Given the description of an element on the screen output the (x, y) to click on. 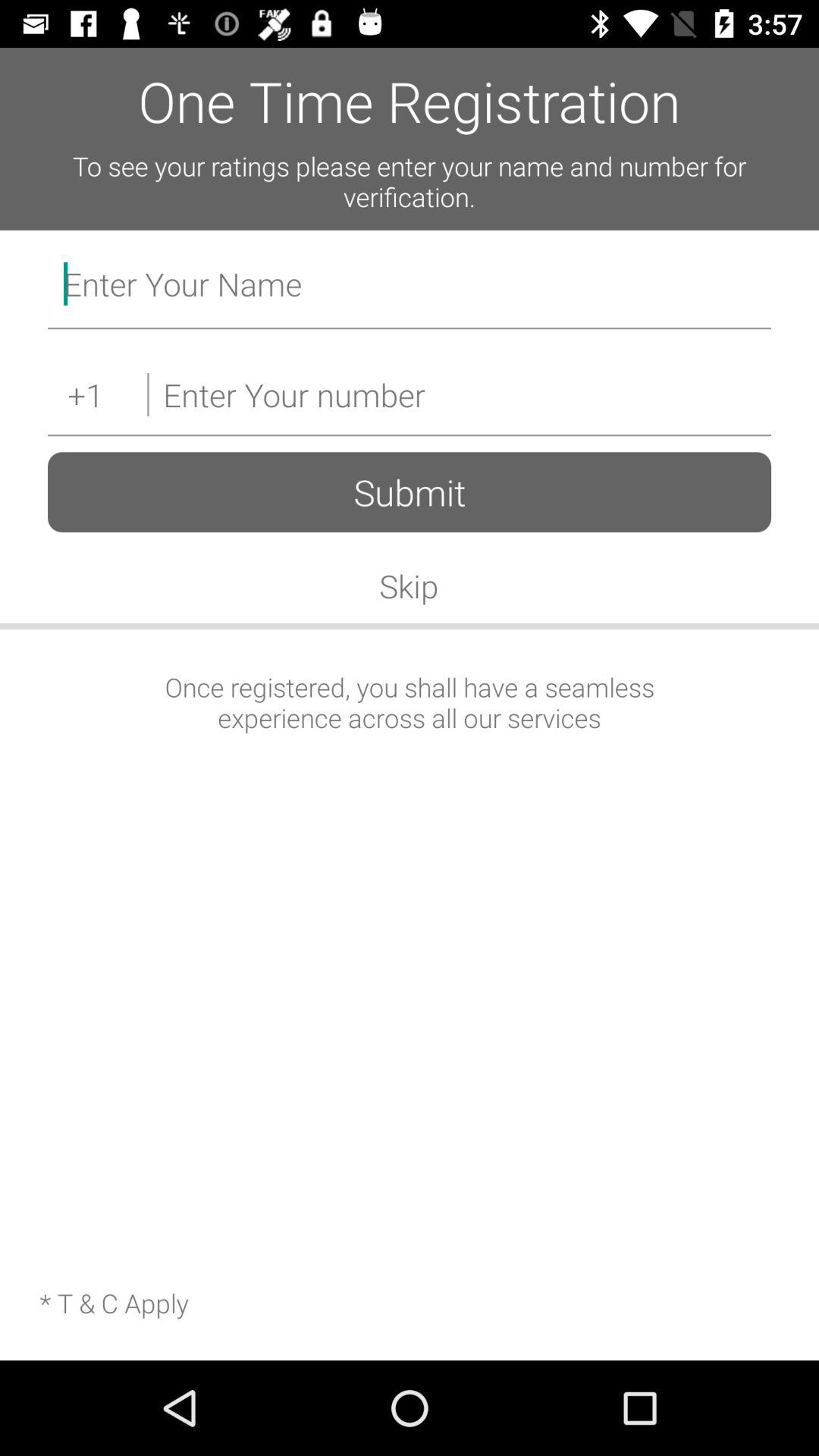
launch the item below to see your icon (409, 287)
